Given the description of an element on the screen output the (x, y) to click on. 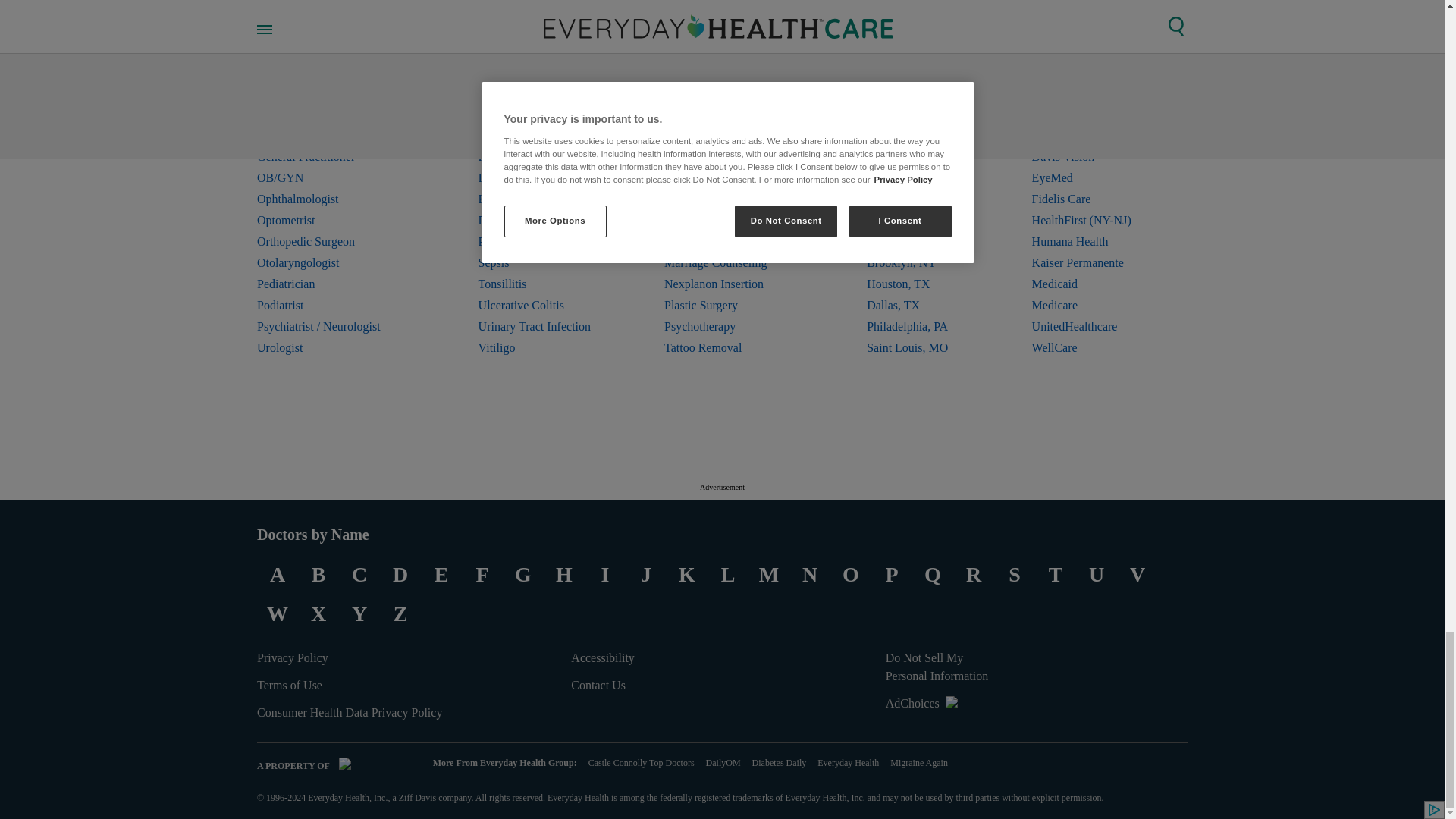
Addiction Medicine Specialist (330, 50)
Gastroenterologist (330, 135)
Cardiologist (330, 71)
Dermatologist (330, 93)
Ophthalmologist (330, 199)
Endocrinologist (330, 114)
Optometrist (330, 219)
General Practitioner (330, 156)
